Given the description of an element on the screen output the (x, y) to click on. 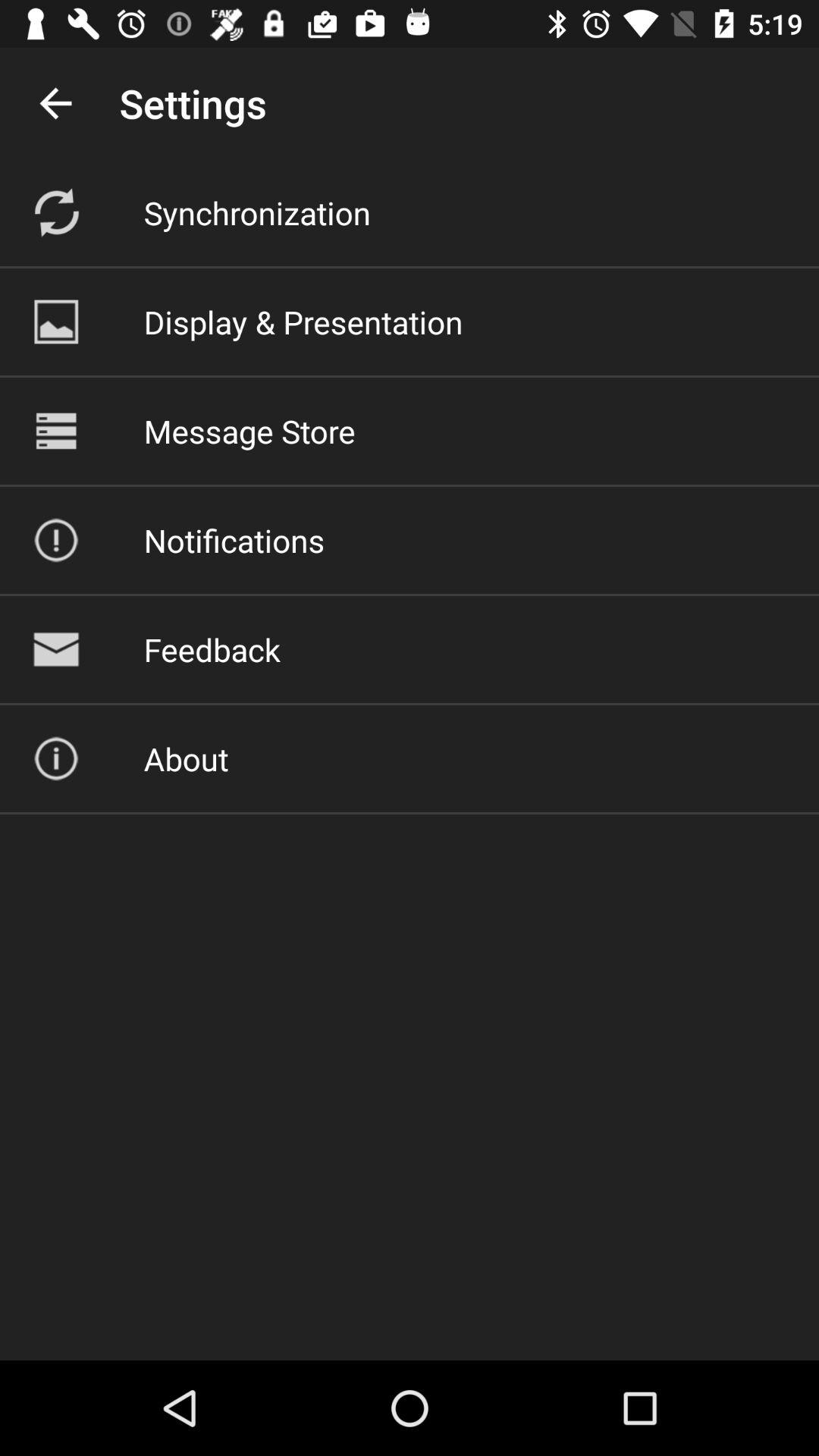
turn off item below the message store icon (233, 539)
